Given the description of an element on the screen output the (x, y) to click on. 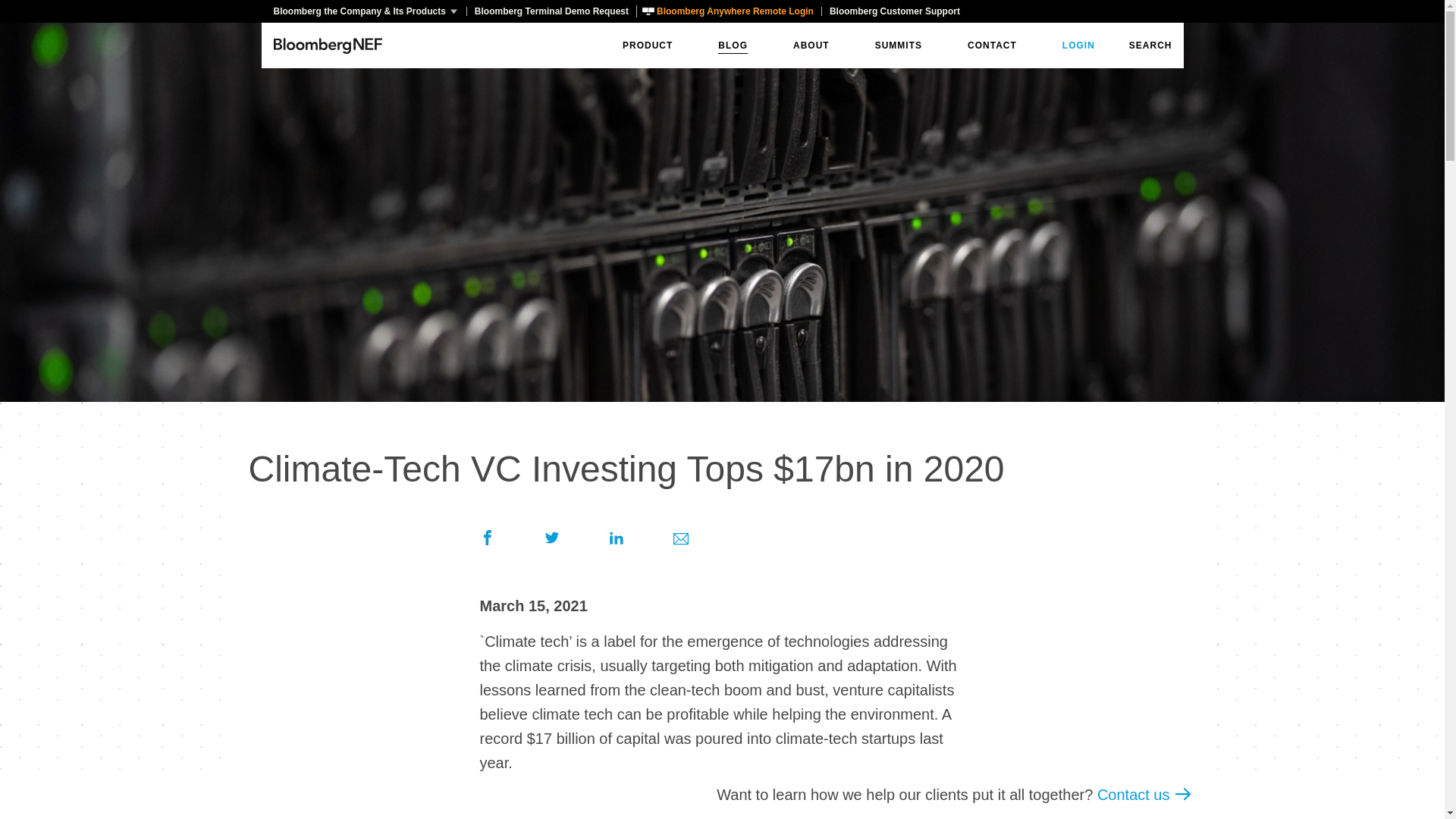
Bloomberg Customer Support (894, 10)
Bloomberg Terminal Demo Request (550, 10)
Bloomberg Anywhere Remote Login (728, 10)
